Given the description of an element on the screen output the (x, y) to click on. 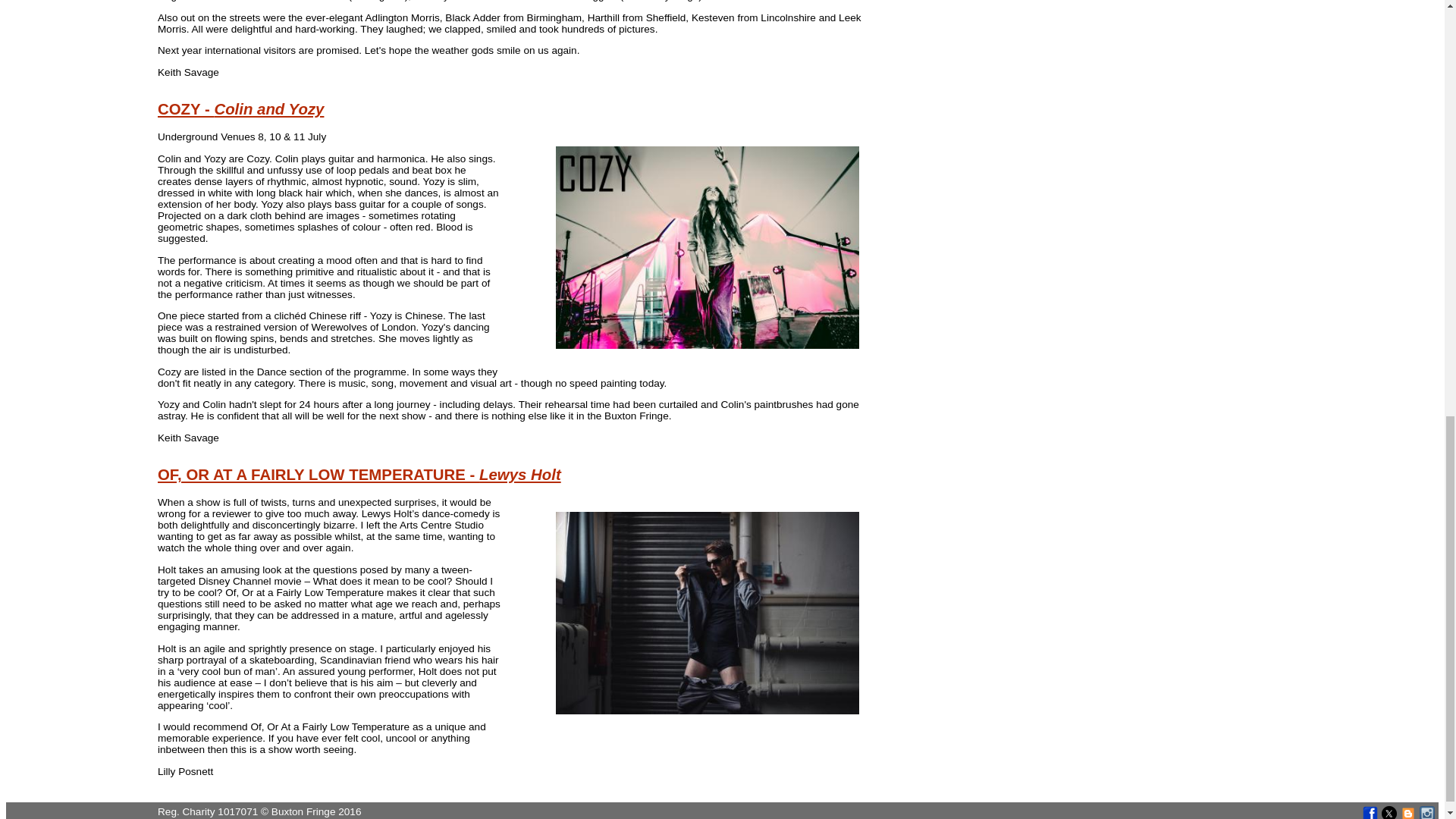
OF, OR AT A FAIRLY LOW TEMPERATURE - Lewys Holt (358, 474)
COZY - Colin and Yozy (240, 108)
